Given the description of an element on the screen output the (x, y) to click on. 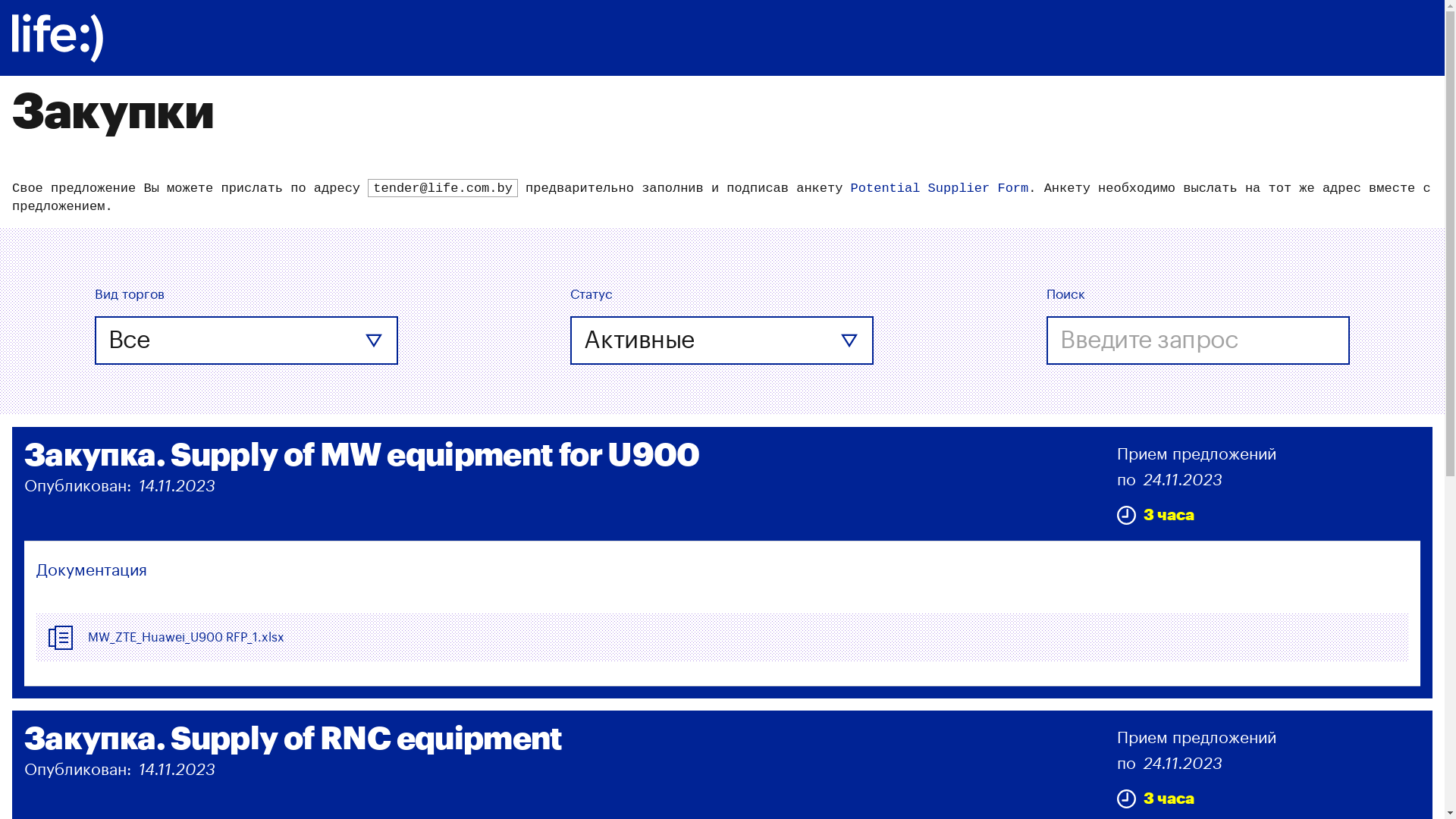
tender@life.com.by Element type: text (442, 188)
Potential Supplier Form Element type: text (939, 188)
MW_ZTE_Huawei_U900 RFP_1.xlsx Element type: text (185, 637)
